Given the description of an element on the screen output the (x, y) to click on. 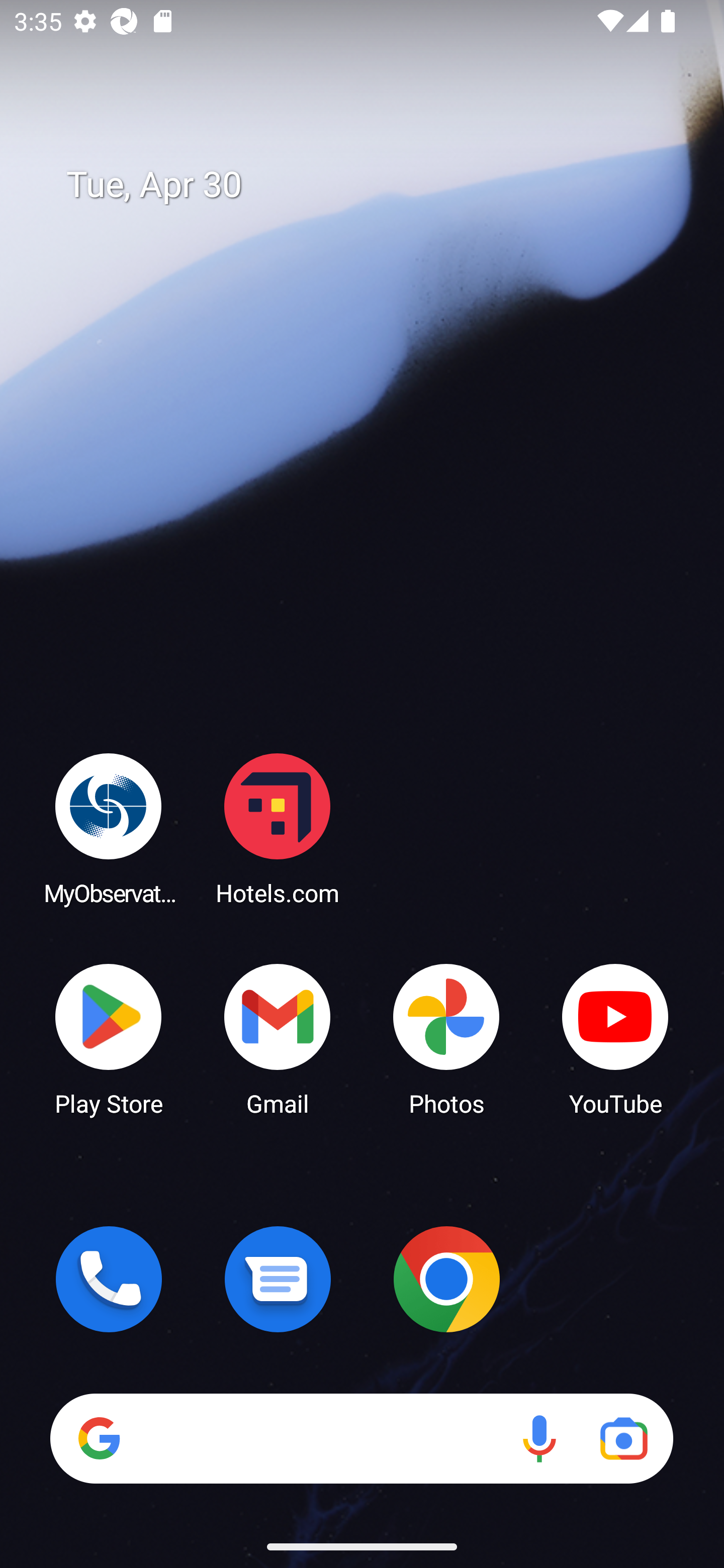
Tue, Apr 30 (375, 184)
MyObservatory (108, 828)
Hotels.com (277, 828)
Play Store (108, 1038)
Gmail (277, 1038)
Photos (445, 1038)
YouTube (615, 1038)
Phone (108, 1279)
Messages (277, 1279)
Chrome (446, 1279)
Voice search (539, 1438)
Google Lens (623, 1438)
